Given the description of an element on the screen output the (x, y) to click on. 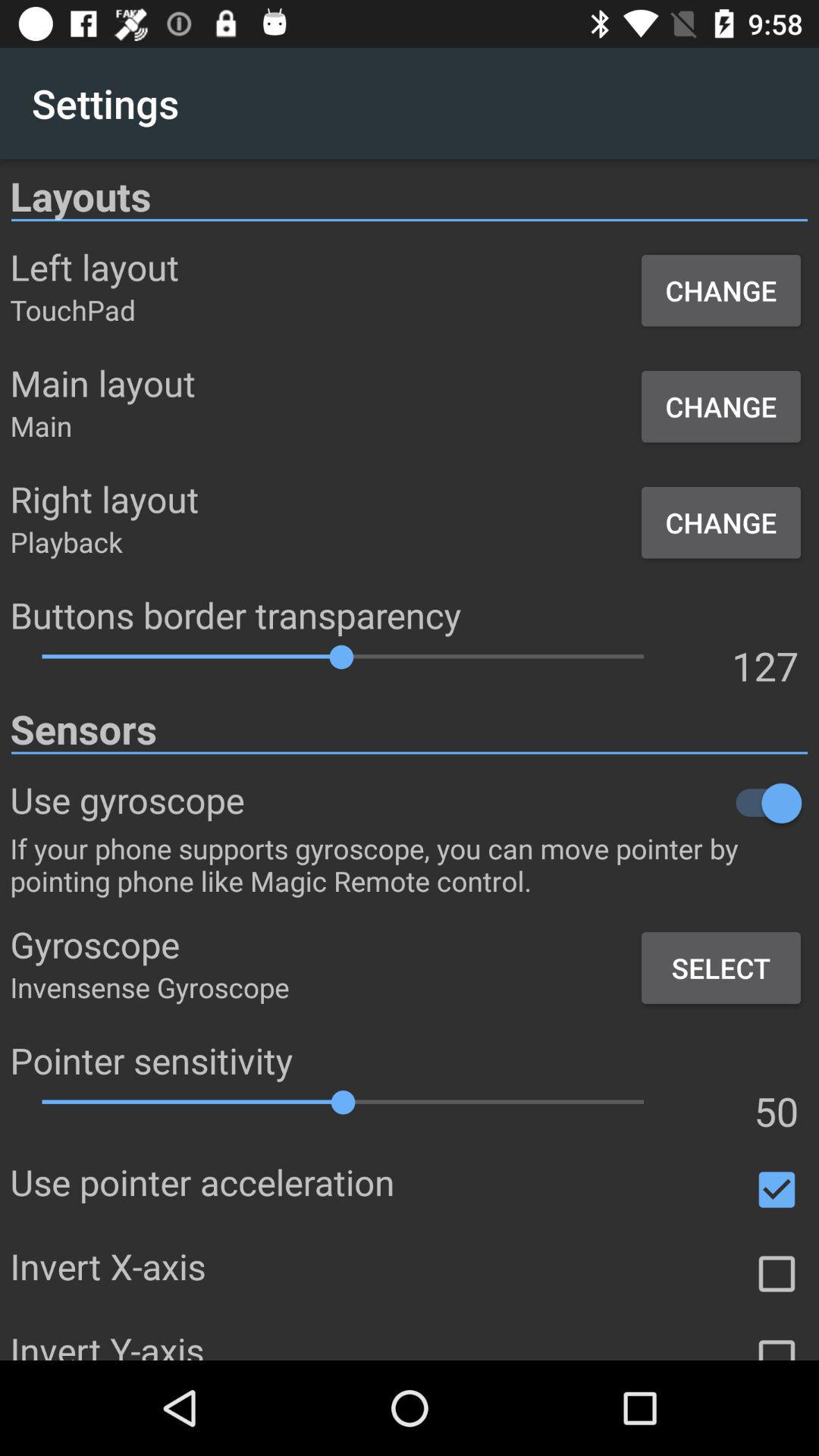
select option (776, 1343)
